Given the description of an element on the screen output the (x, y) to click on. 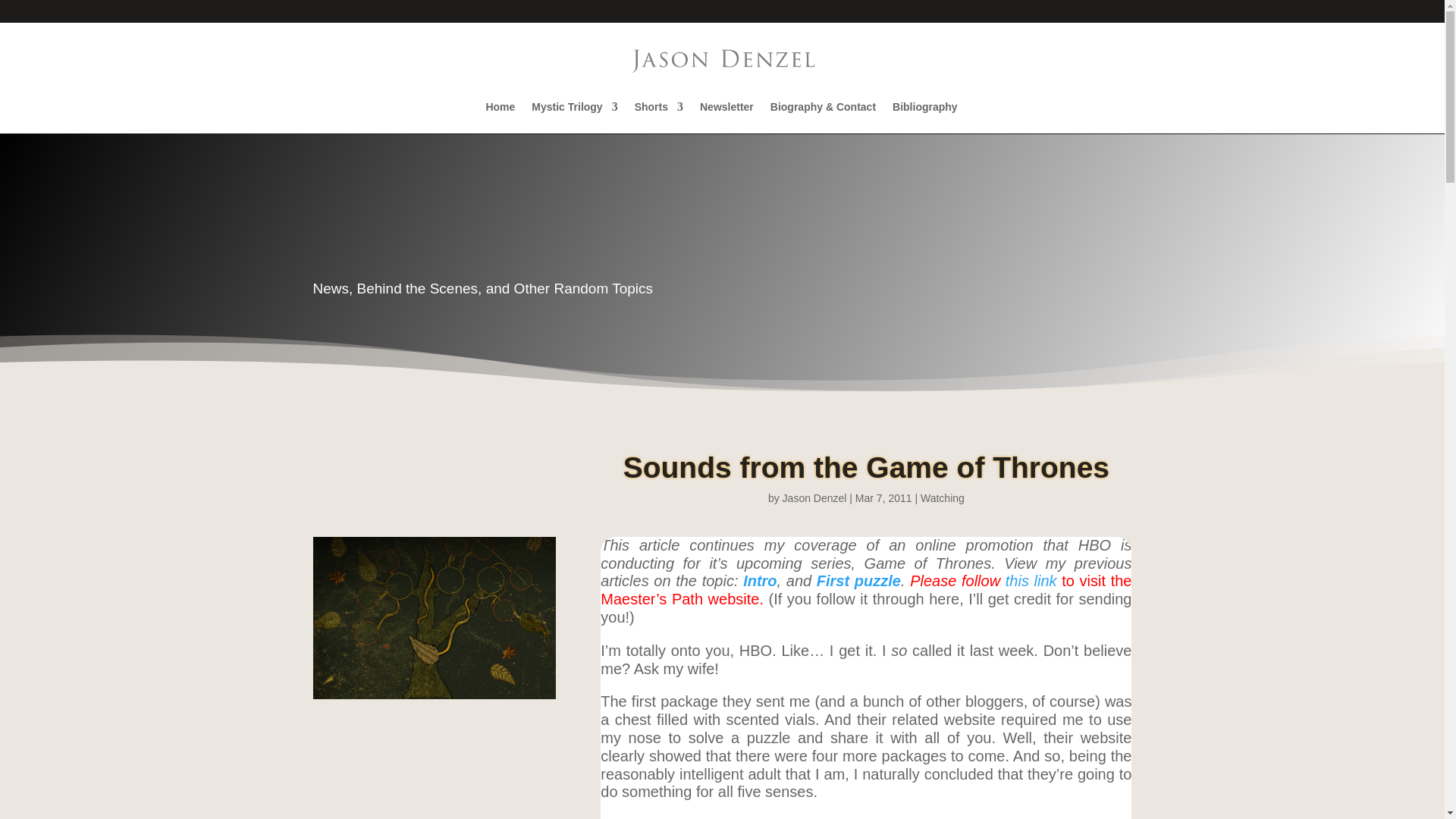
maesters path audio Inn puzzle tree (433, 618)
Watching (941, 498)
Newsletter (727, 117)
Home (499, 117)
Intro (759, 580)
Posts by Jason Denzel (815, 498)
Jason Denzel (815, 498)
Shorts (658, 117)
this link (1031, 580)
Bibliography (925, 117)
Mystic Trilogy (574, 117)
First puzzle (858, 580)
